Given the description of an element on the screen output the (x, y) to click on. 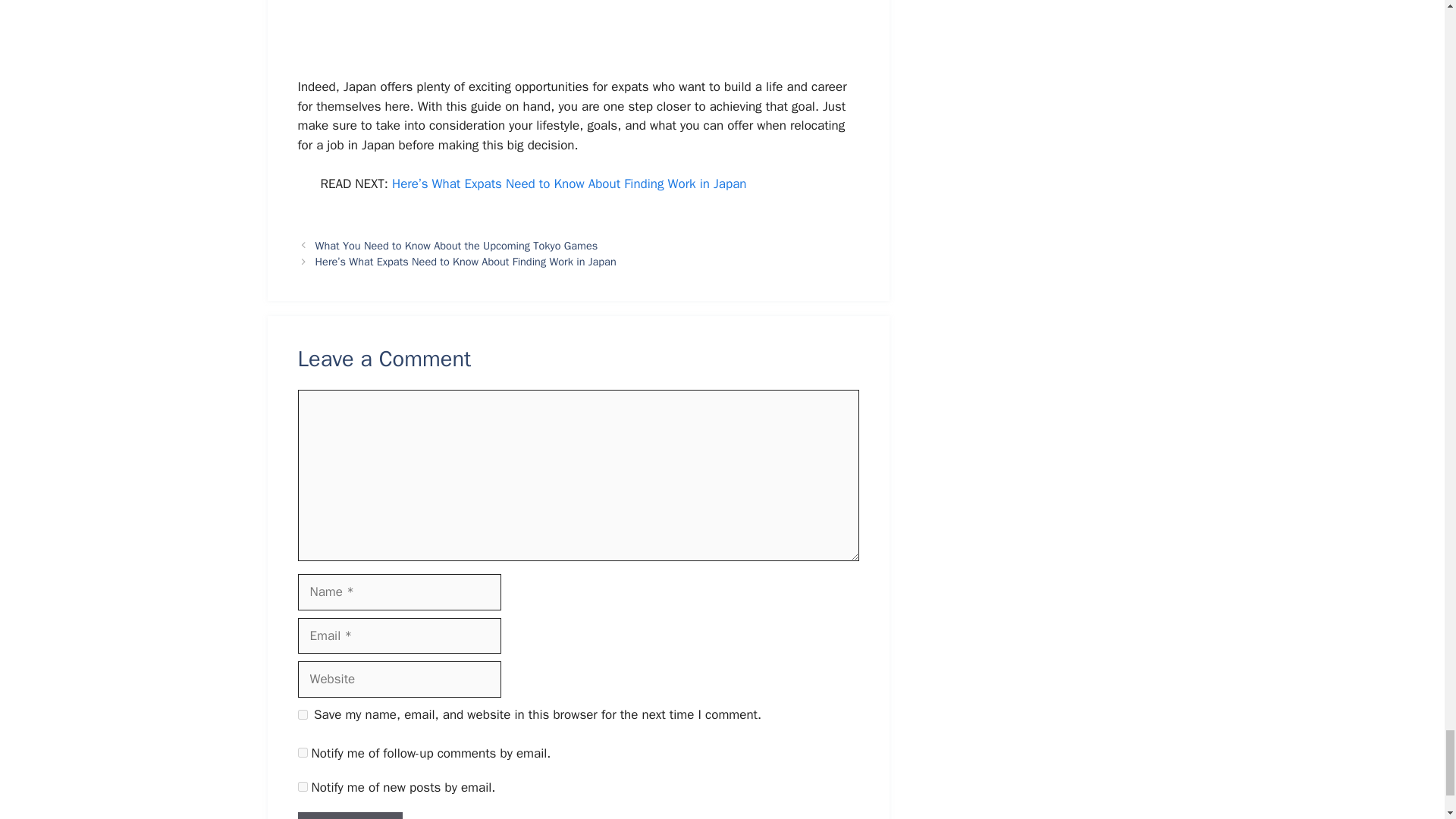
Post Comment (349, 815)
yes (302, 714)
subscribe (302, 786)
subscribe (302, 752)
What You Need to Know About the Upcoming Tokyo Games (456, 245)
Post Comment (349, 815)
